Given the description of an element on the screen output the (x, y) to click on. 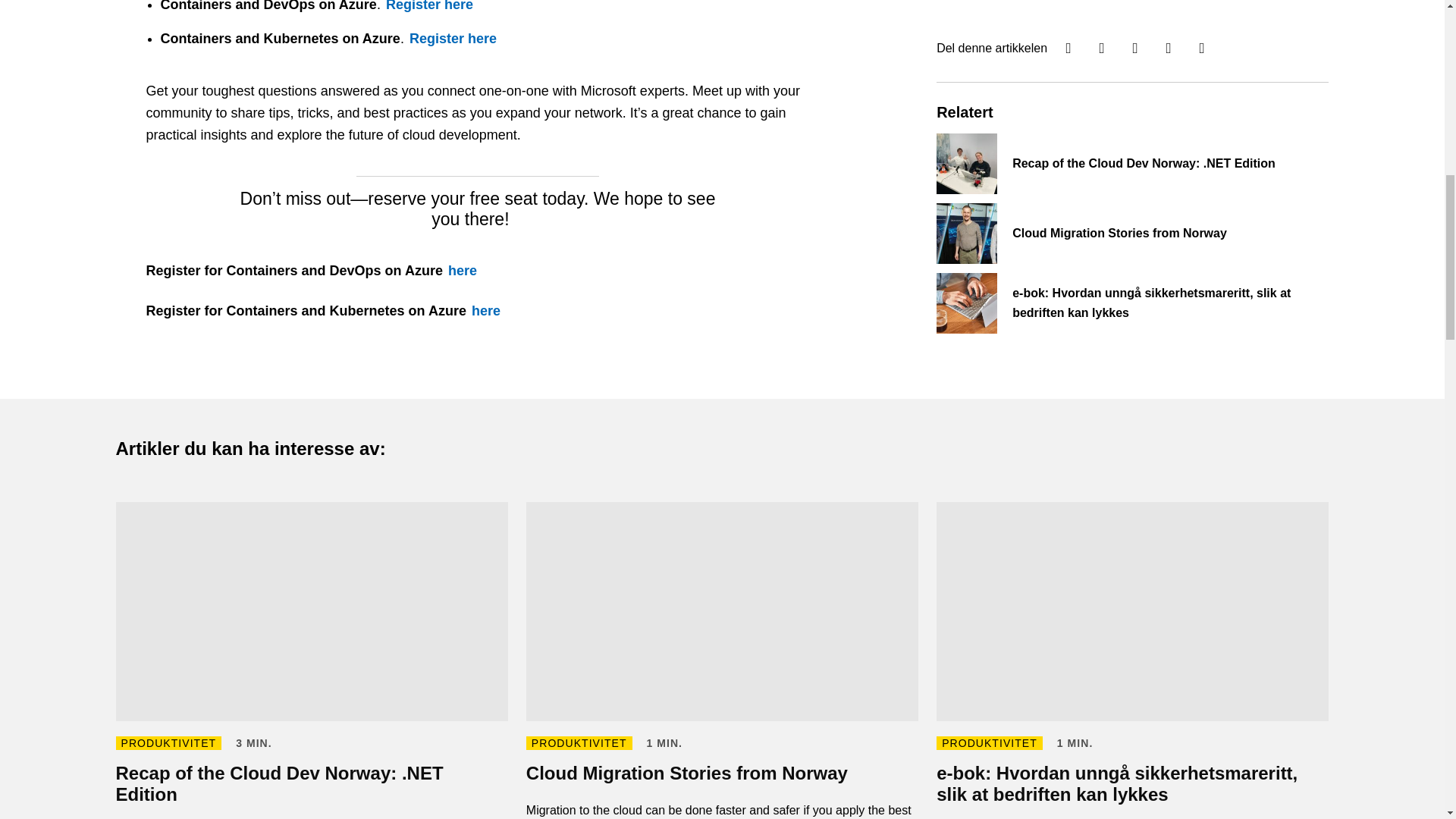
Produktivitet (578, 743)
Cloud Migration Stories from Norway (721, 660)
Produktivitet (168, 743)
Recap of the Cloud Dev Norway: .NET Edition (310, 660)
